Given the description of an element on the screen output the (x, y) to click on. 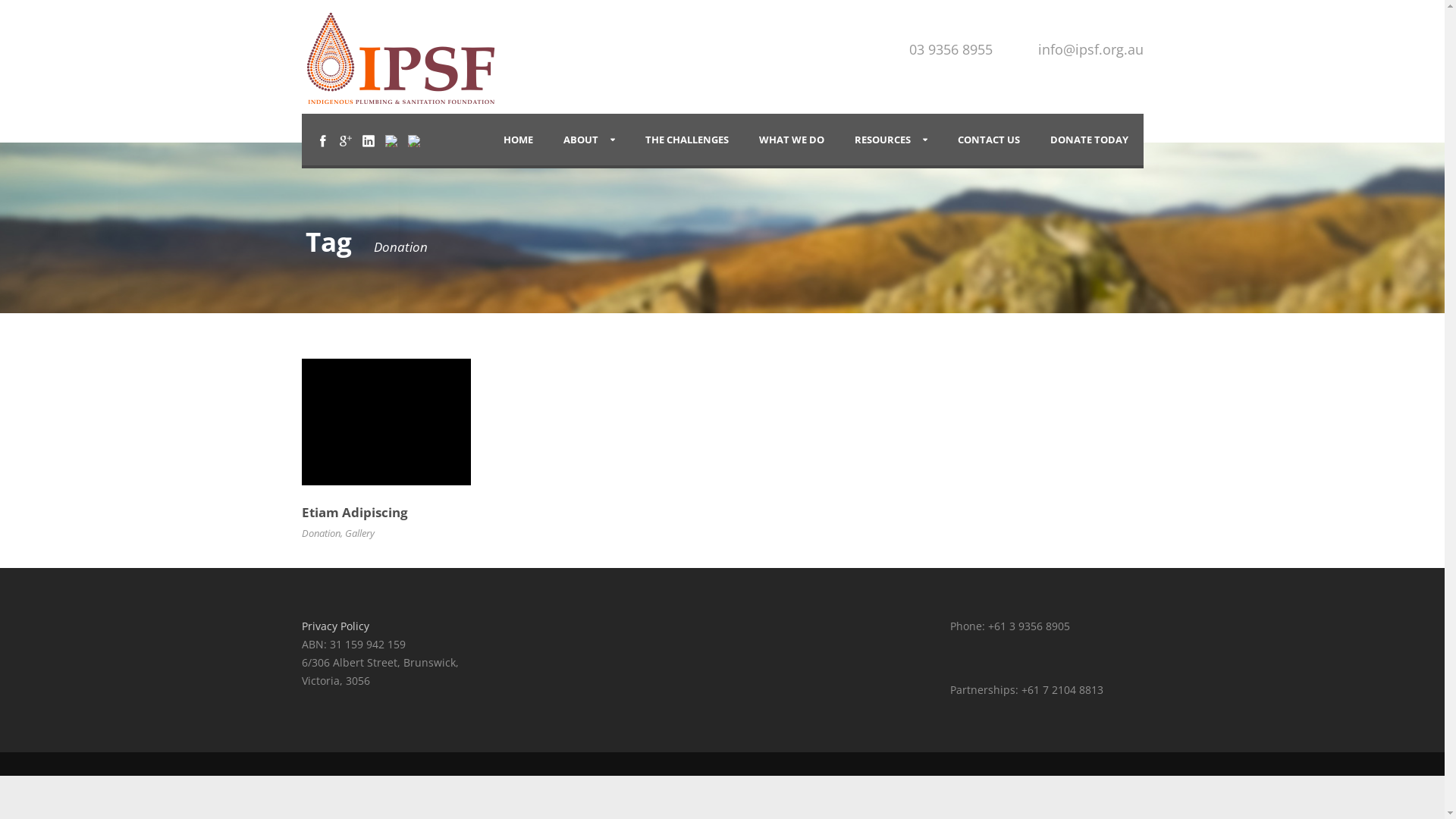
Privacy Policy Element type: text (335, 625)
ABOUT Element type: text (588, 139)
HOME Element type: text (518, 139)
RESOURCES Element type: text (889, 139)
CONTACT US Element type: text (987, 139)
Gallery Element type: text (358, 532)
THE CHALLENGES Element type: text (686, 139)
DONATE TODAY Element type: text (1088, 139)
Donation Element type: text (320, 532)
info@ipsf.org.au Element type: text (1089, 49)
WHAT WE DO Element type: text (790, 139)
Etiam Adipiscing Element type: text (354, 511)
